Given the description of an element on the screen output the (x, y) to click on. 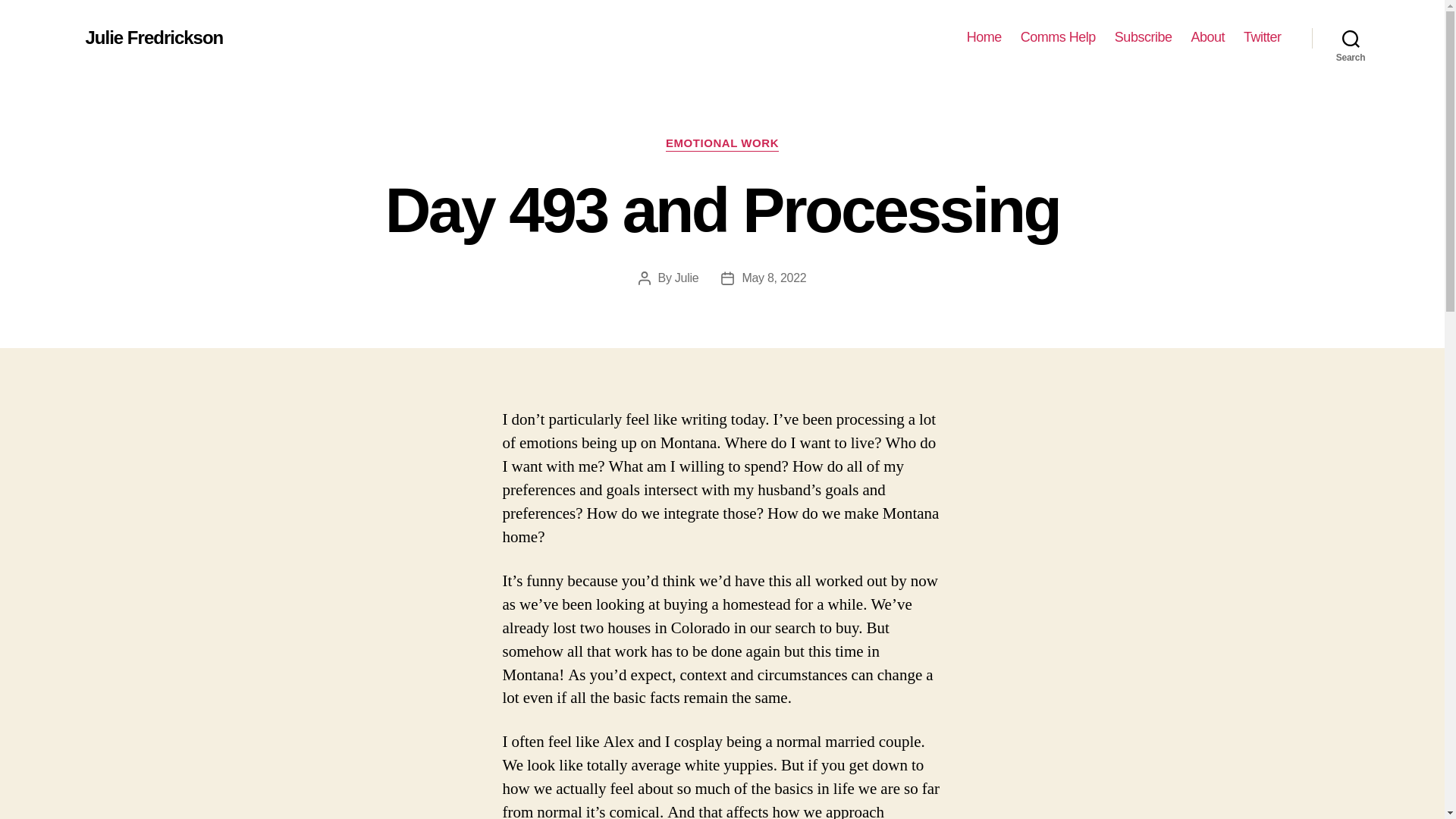
EMOTIONAL WORK (721, 143)
Comms Help (1058, 37)
Twitter (1262, 37)
Julie (686, 277)
Home (983, 37)
Julie Fredrickson (153, 37)
Subscribe (1143, 37)
Search (1350, 37)
About (1207, 37)
May 8, 2022 (773, 277)
